Given the description of an element on the screen output the (x, y) to click on. 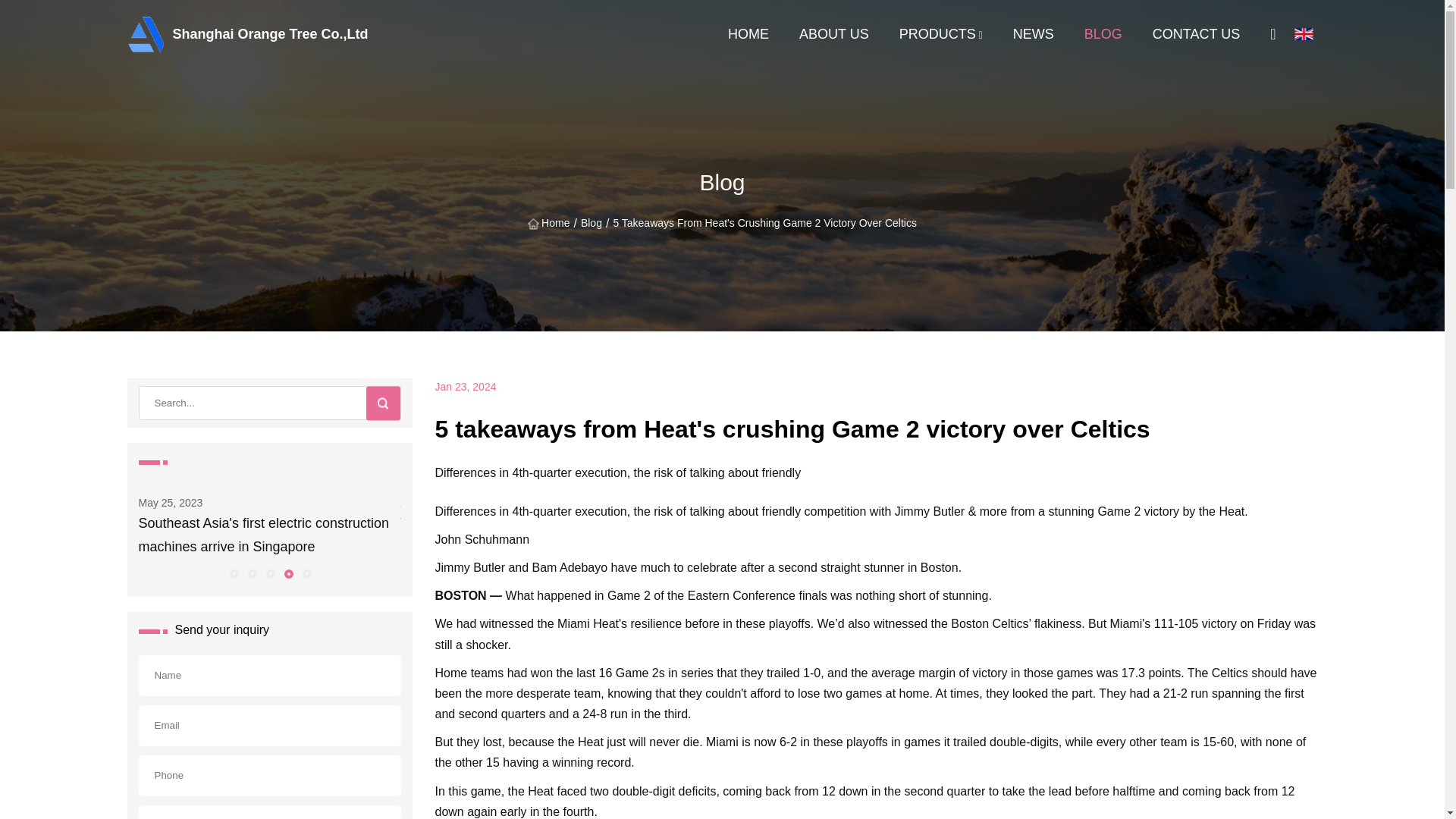
Shanghai Orange Tree Co.,Ltd (161, 33)
Blog (590, 223)
Shanghai Orange Tree Co.,Ltd (161, 33)
PRODUCTS (937, 33)
Home (548, 224)
CONTACT US (1196, 33)
Language (1306, 33)
ABOUT US (834, 33)
